Given the description of an element on the screen output the (x, y) to click on. 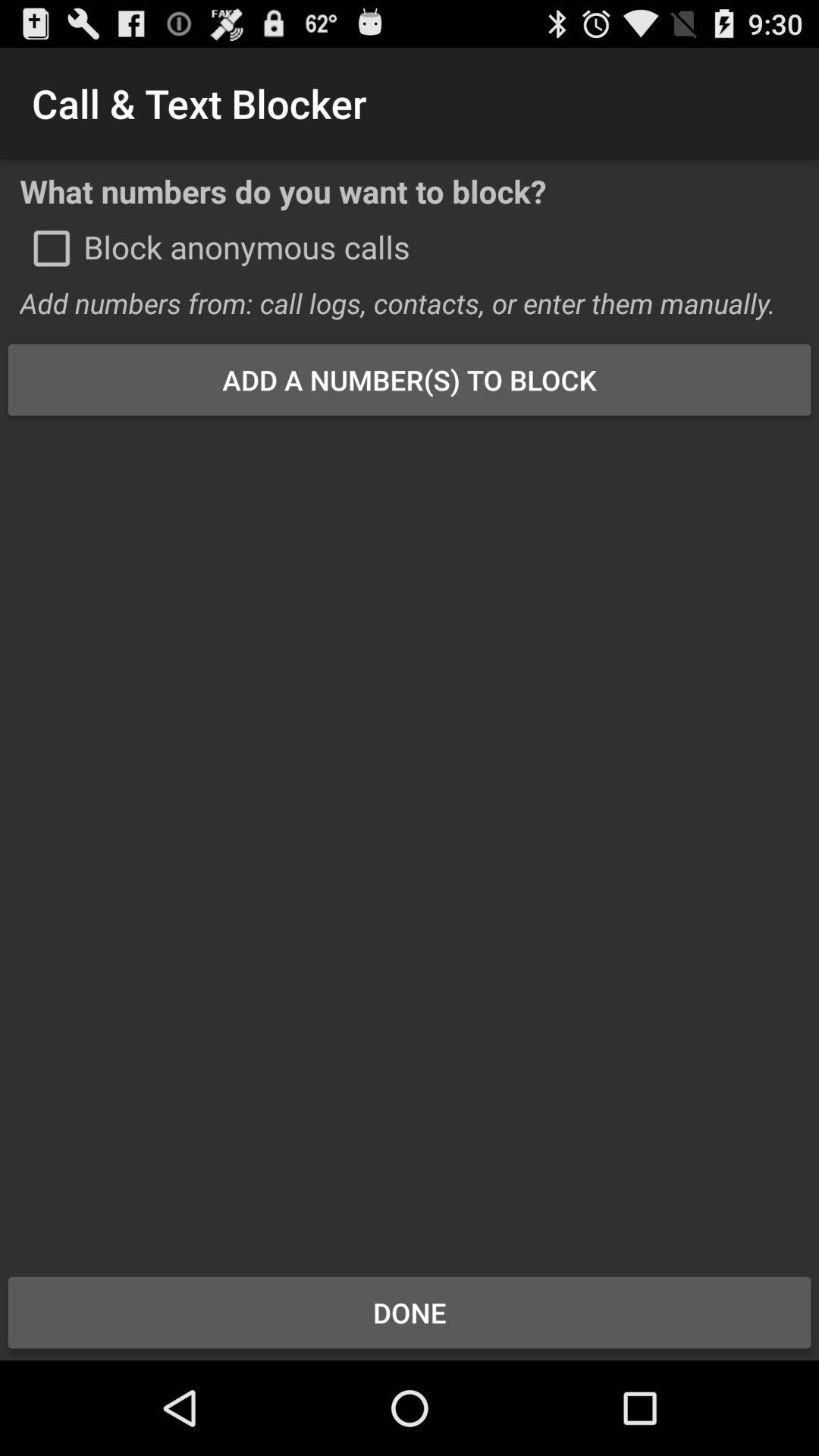
click button below add a number item (409, 835)
